Given the description of an element on the screen output the (x, y) to click on. 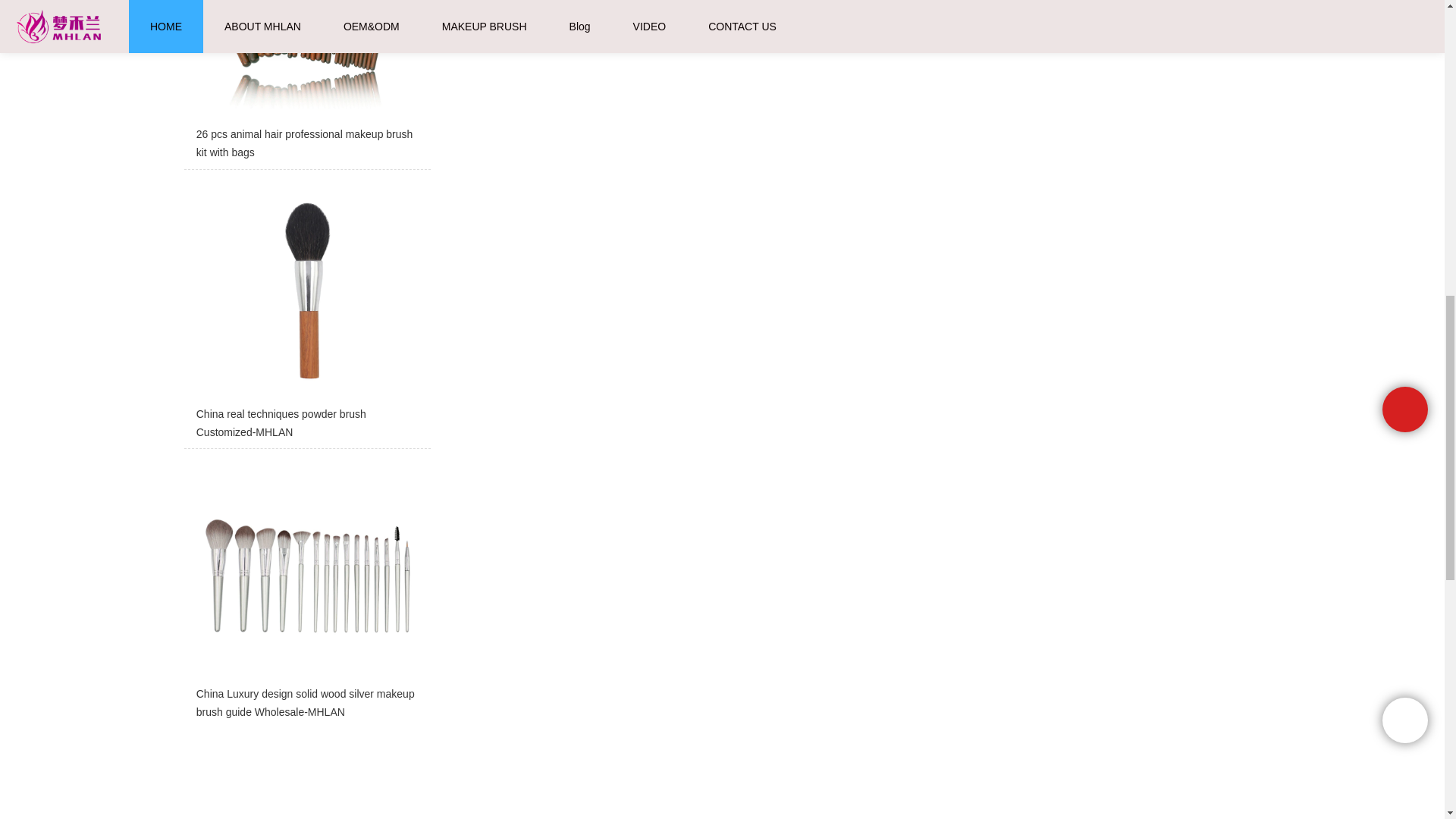
26 pcs animal hair professional makeup brush kit with bags (306, 84)
China real techniques powder brush Customized-MHLAN (306, 312)
